Given the description of an element on the screen output the (x, y) to click on. 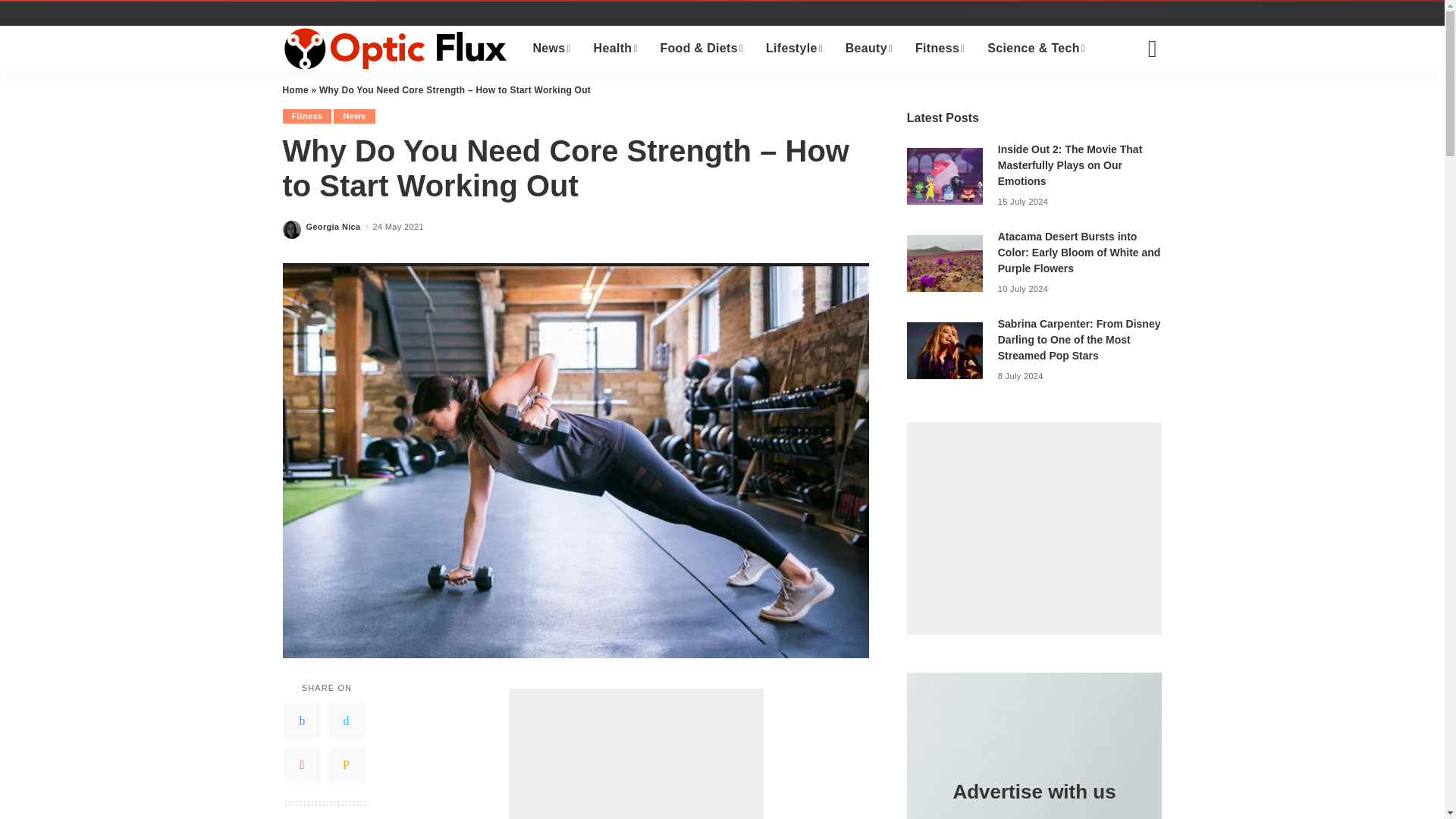
Facebook (301, 720)
Email (345, 764)
Twitter (345, 720)
Pinterest (301, 764)
Optic Flux (395, 48)
